Given the description of an element on the screen output the (x, y) to click on. 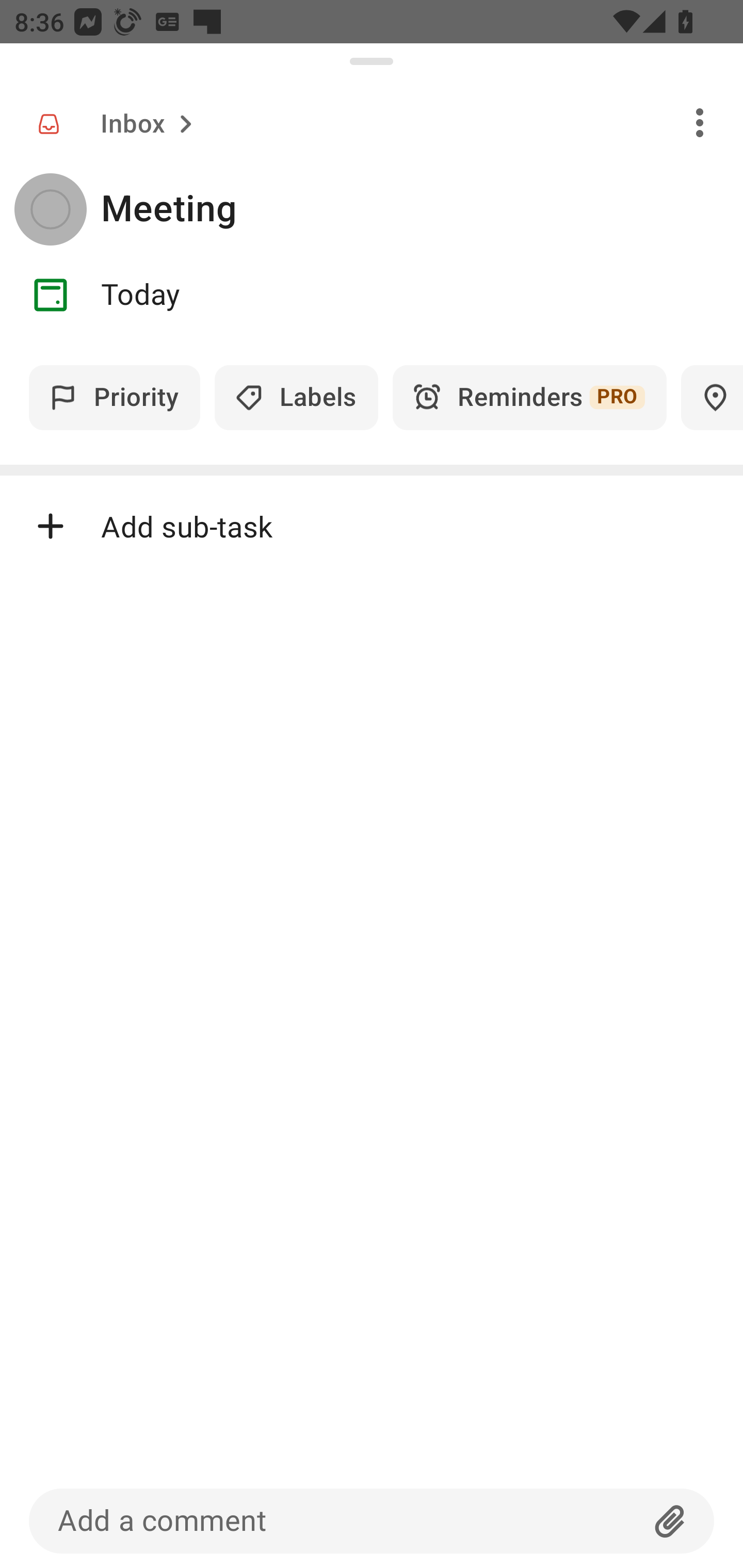
Overflow menu (699, 122)
Complete (50, 209)
Meeting​ (422, 209)
Date Today (371, 295)
Priority (113, 397)
Labels (296, 397)
Reminders PRO (529, 397)
Locations PRO (712, 397)
Add sub-task (371, 525)
Add a comment Attachment (371, 1520)
Attachment (670, 1520)
